Given the description of an element on the screen output the (x, y) to click on. 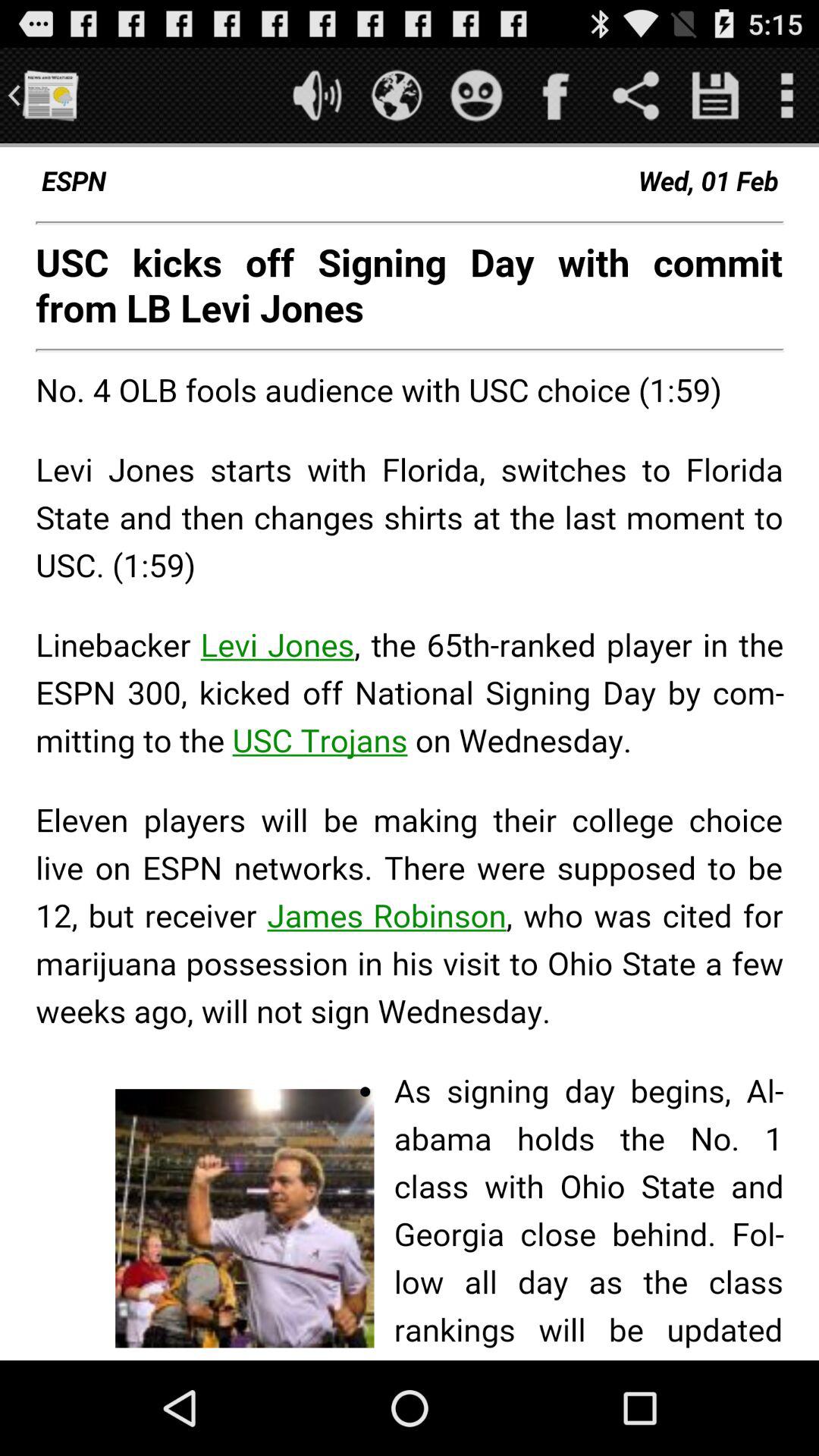
go back (49, 95)
